Given the description of an element on the screen output the (x, y) to click on. 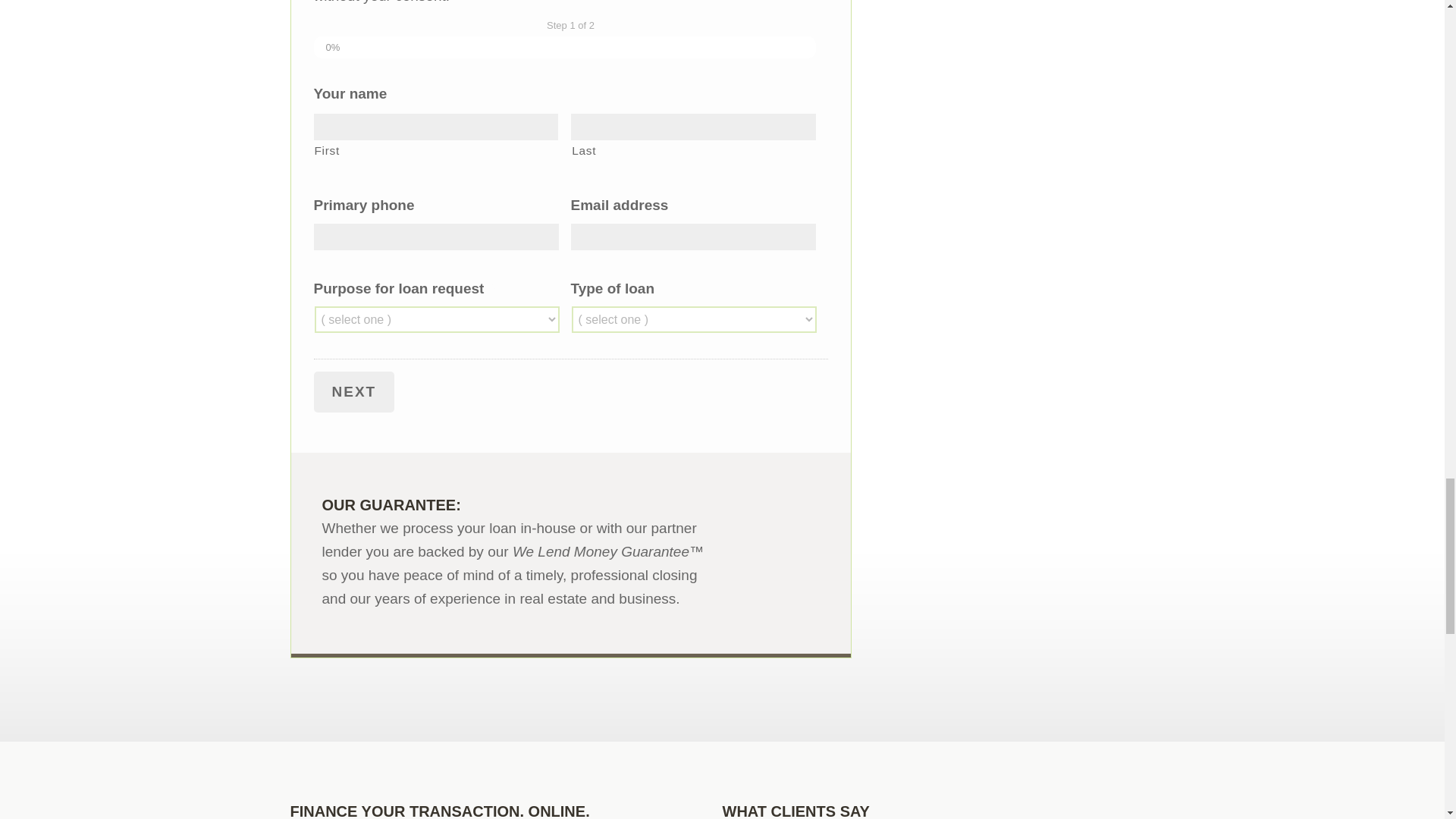
Next (354, 391)
